Given the description of an element on the screen output the (x, y) to click on. 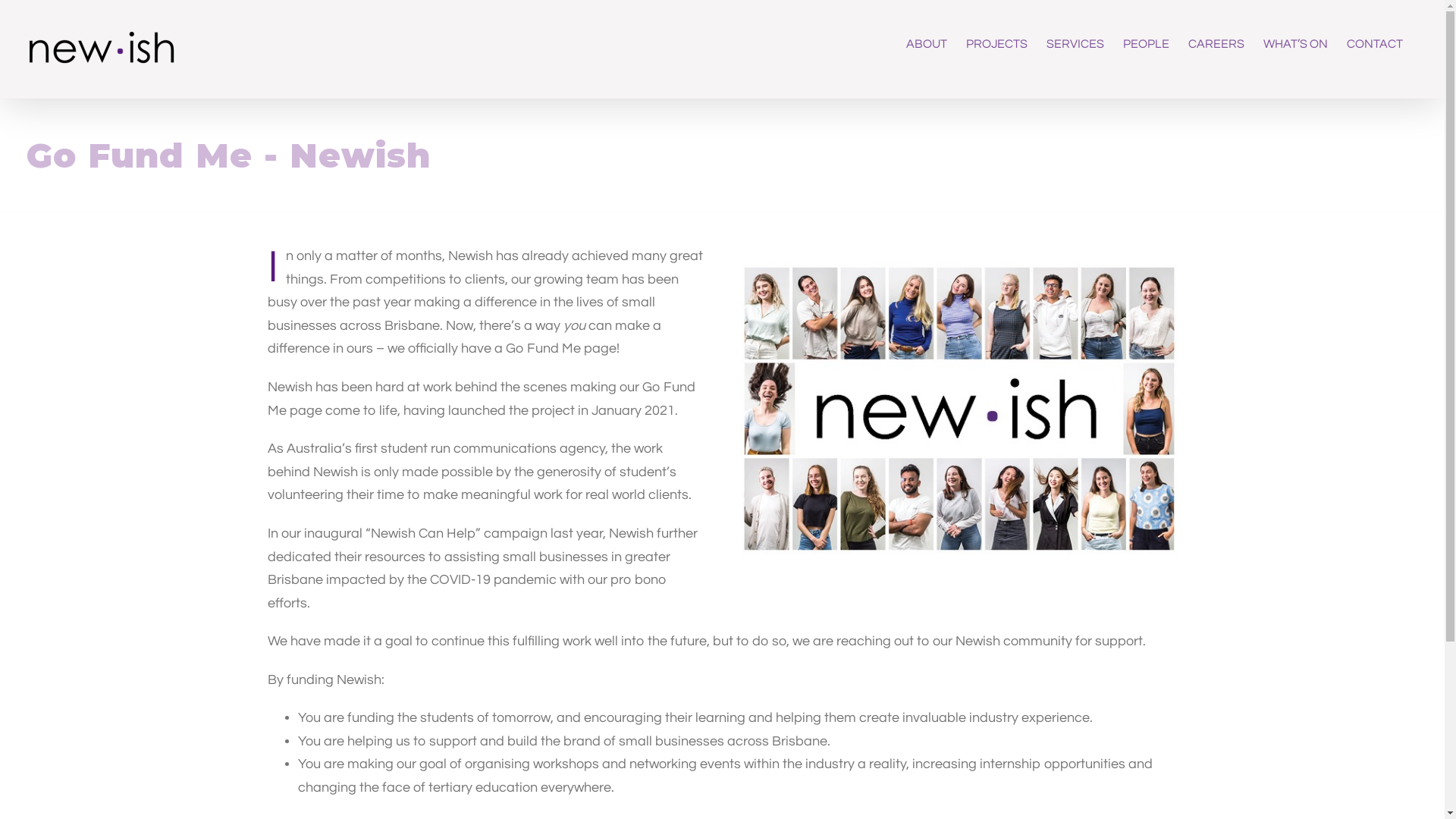
CONTACT Element type: text (1374, 43)
PROJECTS Element type: text (996, 43)
CAREERS Element type: text (1216, 43)
ABOUT Element type: text (926, 43)
SERVICES Element type: text (1075, 43)
PEOPLE Element type: text (1146, 43)
